Given the description of an element on the screen output the (x, y) to click on. 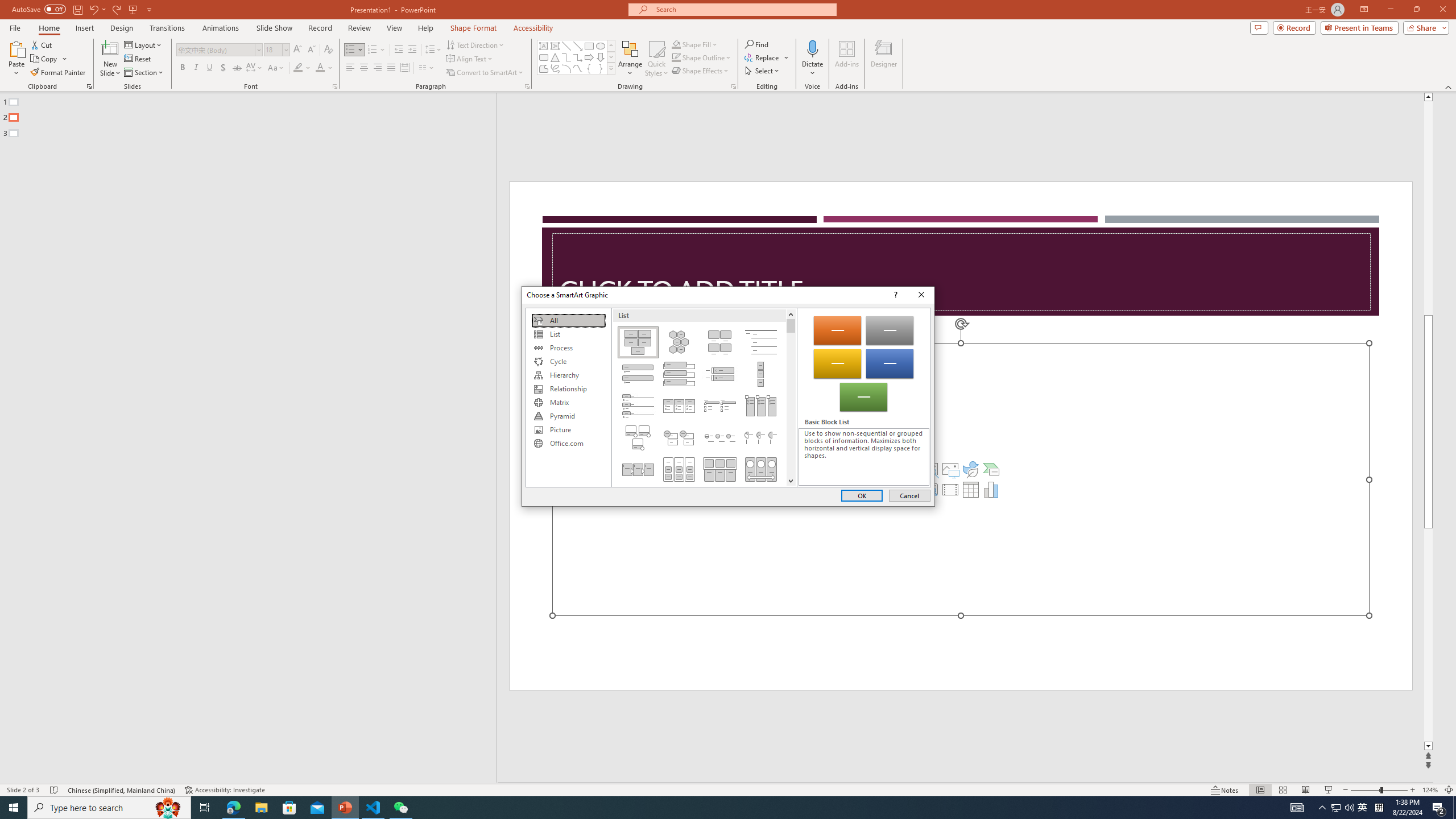
Vertical Bracket List (719, 373)
Tab List (637, 405)
Zoom 124% (1430, 790)
Pie Process (761, 437)
